Given the description of an element on the screen output the (x, y) to click on. 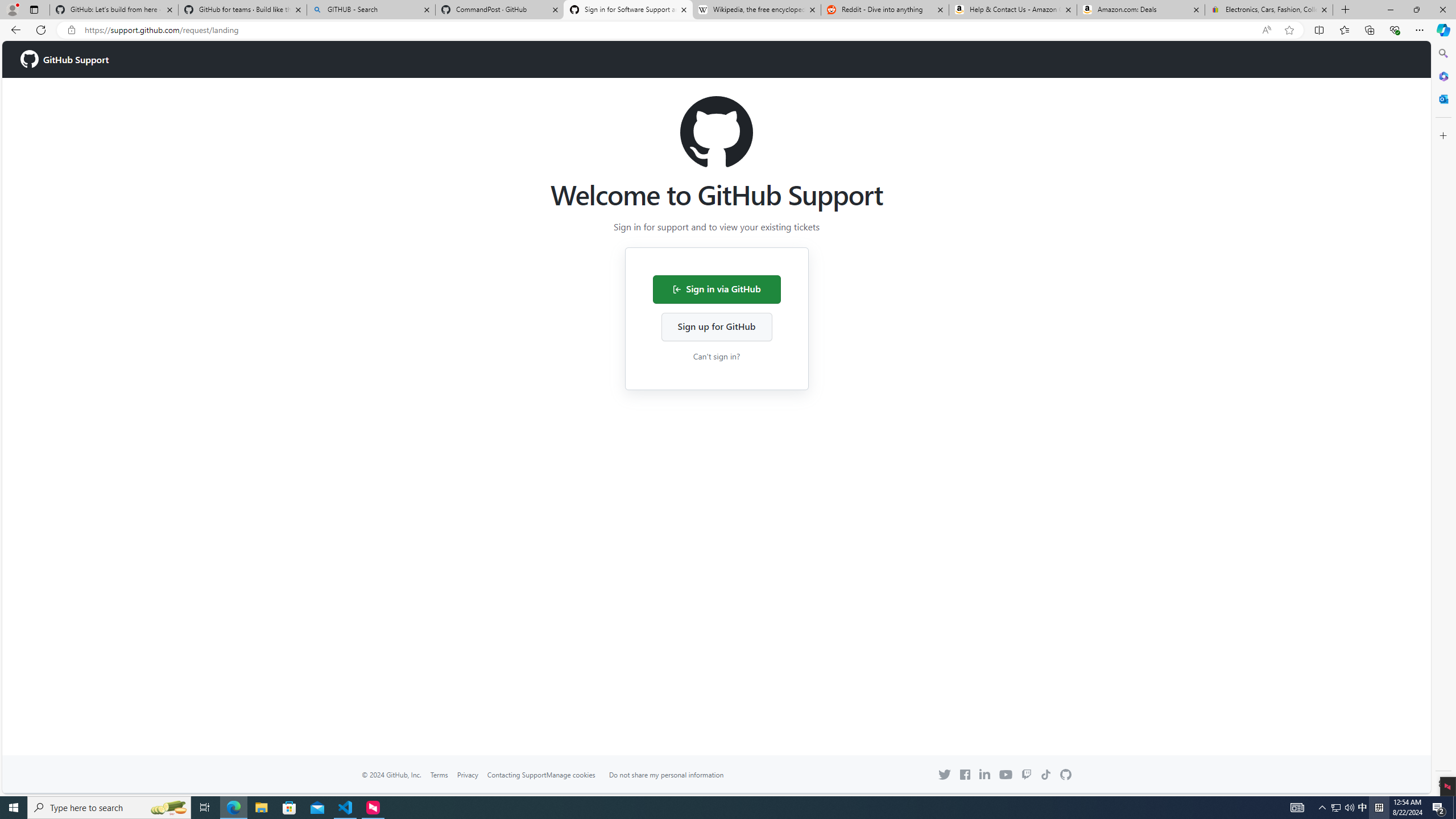
Linkedin icon (984, 773)
Sign up for GitHub (716, 326)
Wikipedia, the free encyclopedia (756, 9)
Class: mr-3 (964, 774)
Linkedin icon GitHub on LinkedIn (984, 773)
Electronics, Cars, Fashion, Collectibles & More | eBay (1268, 9)
YouTube icon GitHub on YouTube (1004, 773)
